Given the description of an element on the screen output the (x, y) to click on. 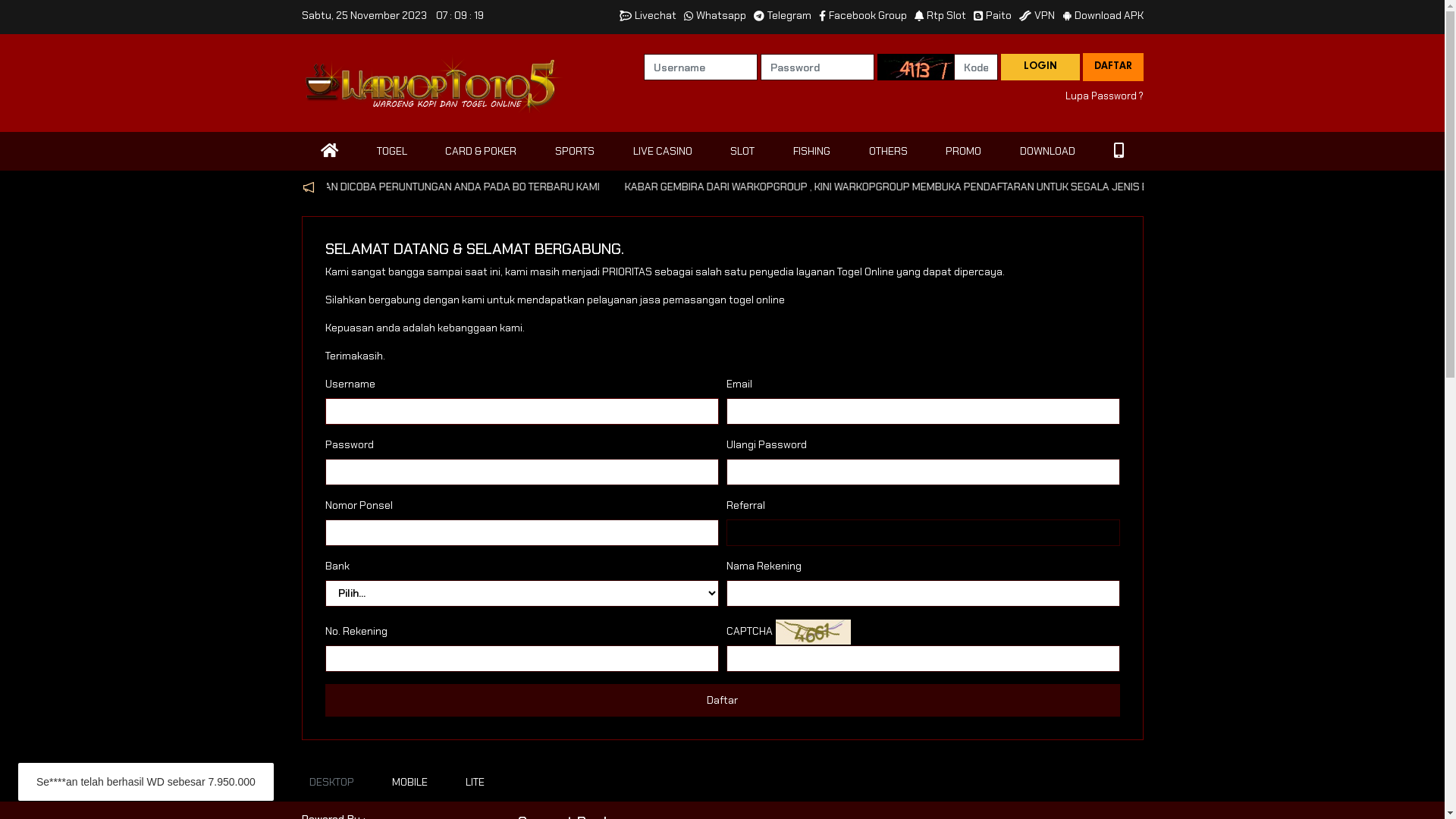
Rtp Slot Element type: text (940, 15)
Paito Element type: text (992, 15)
Daftar Element type: text (721, 700)
DOWNLOAD Element type: text (1047, 150)
OTHERS Element type: text (888, 150)
Download APK Element type: text (1101, 15)
SPORTS Element type: text (574, 150)
LIVE CASINO Element type: text (662, 150)
DAFTAR Element type: text (1112, 67)
FISHING Element type: text (811, 150)
Facebook Group Element type: text (862, 15)
CARD & POKER Element type: text (480, 150)
SLOT Element type: text (742, 150)
Livechat Element type: text (646, 15)
PROMO Element type: text (963, 150)
VPN Element type: text (1036, 15)
Lupa Password ? Element type: text (1103, 95)
MOBILE Element type: text (409, 781)
Whatsapp Element type: text (715, 15)
Telegram Element type: text (782, 15)
DESKTOP Element type: text (330, 781)
LITE Element type: text (473, 781)
LOGIN Element type: text (1040, 66)
TOGEL Element type: text (391, 150)
